Given the description of an element on the screen output the (x, y) to click on. 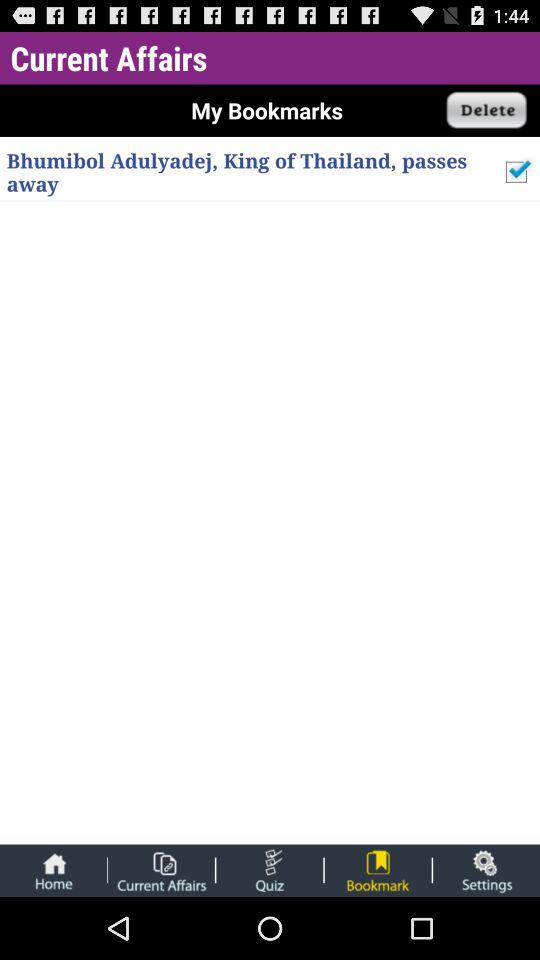
click on quiz option (269, 870)
